Given the description of an element on the screen output the (x, y) to click on. 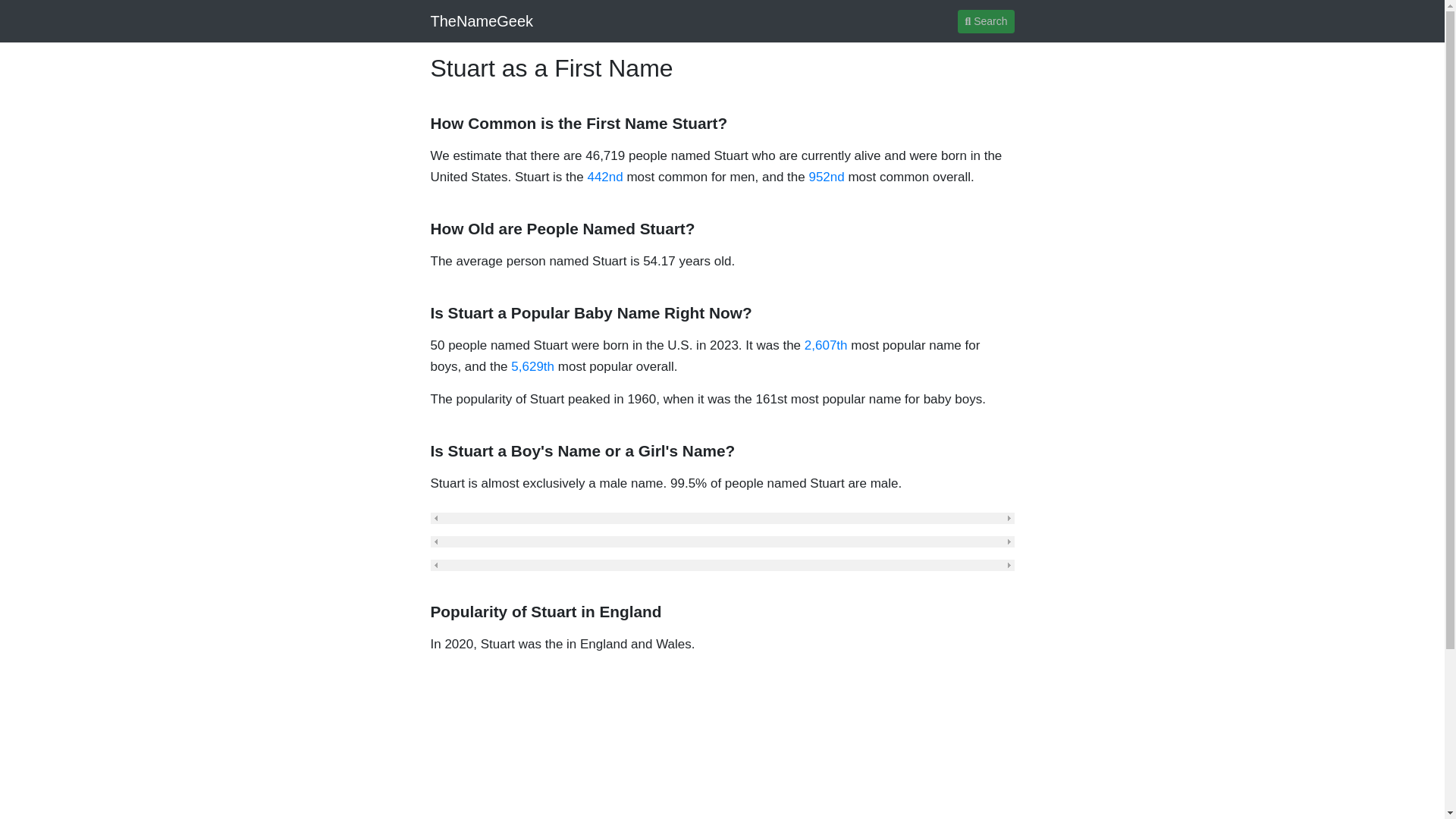
TheNameGeek (482, 20)
2,607th (826, 345)
952nd (826, 176)
Search (985, 20)
442nd (604, 176)
5,629th (532, 366)
